Given the description of an element on the screen output the (x, y) to click on. 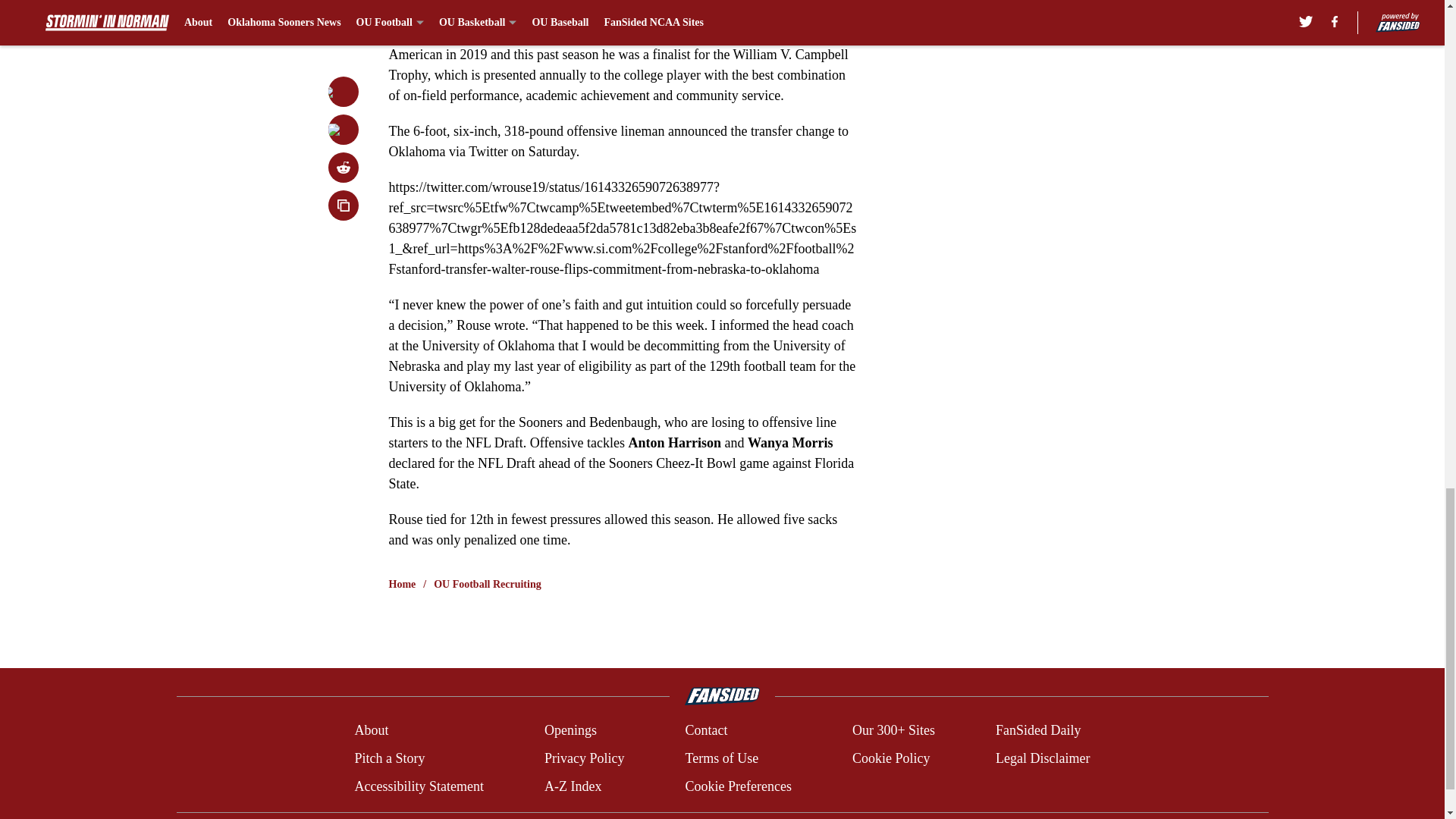
Cookie Preferences (737, 786)
Privacy Policy (584, 758)
Cookie Policy (890, 758)
Accessibility Statement (418, 786)
Legal Disclaimer (1042, 758)
OU Football Recruiting (487, 584)
Openings (570, 730)
FanSided Daily (1038, 730)
A-Z Index (572, 786)
Contact (705, 730)
